Given the description of an element on the screen output the (x, y) to click on. 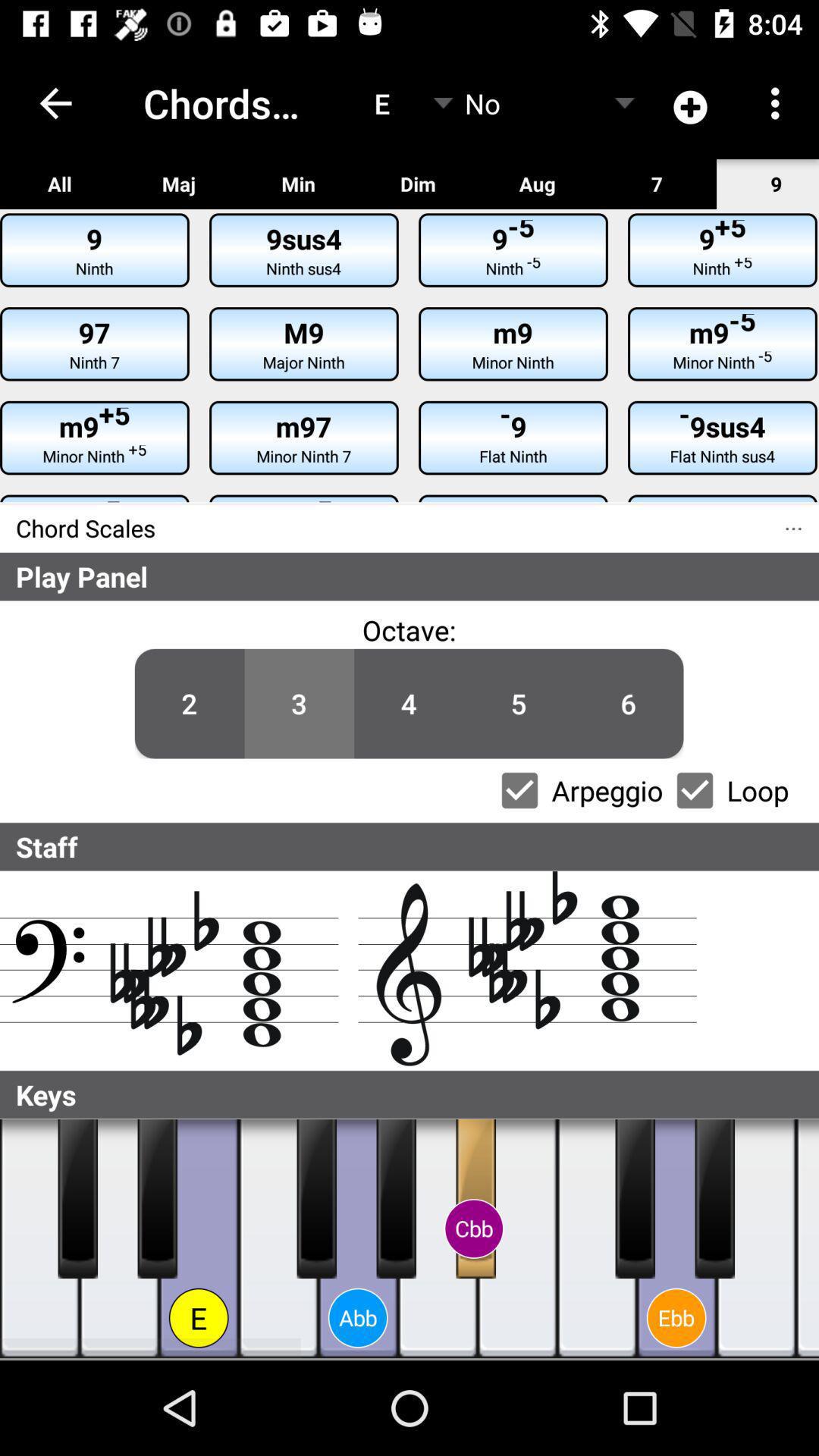
tap on white piano key (756, 1238)
